Given the description of an element on the screen output the (x, y) to click on. 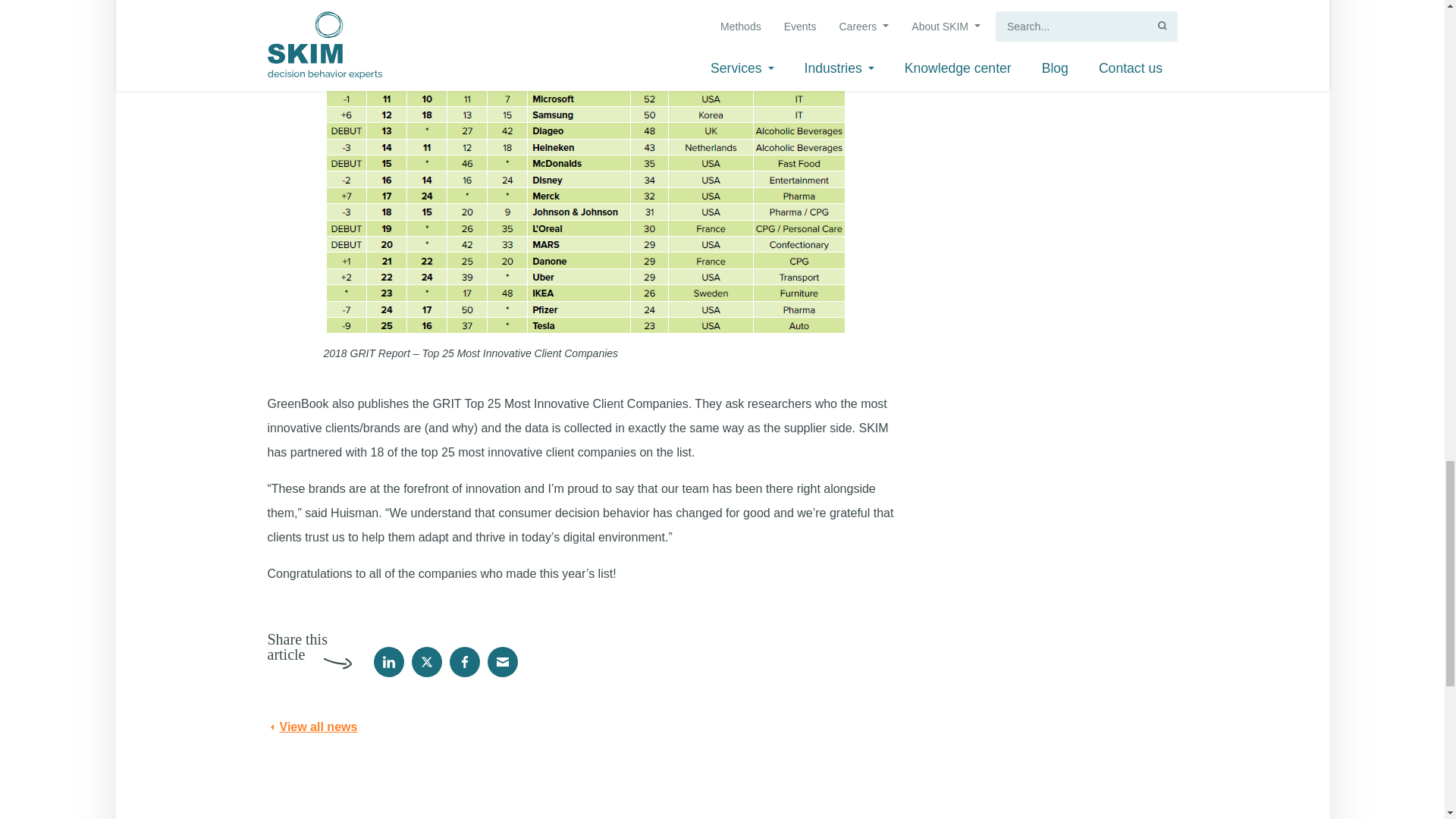
Share this on LinkedIn (387, 662)
Share this on Facebook (463, 662)
Share this on Twitter (425, 662)
E-mail this article (501, 662)
